Given the description of an element on the screen output the (x, y) to click on. 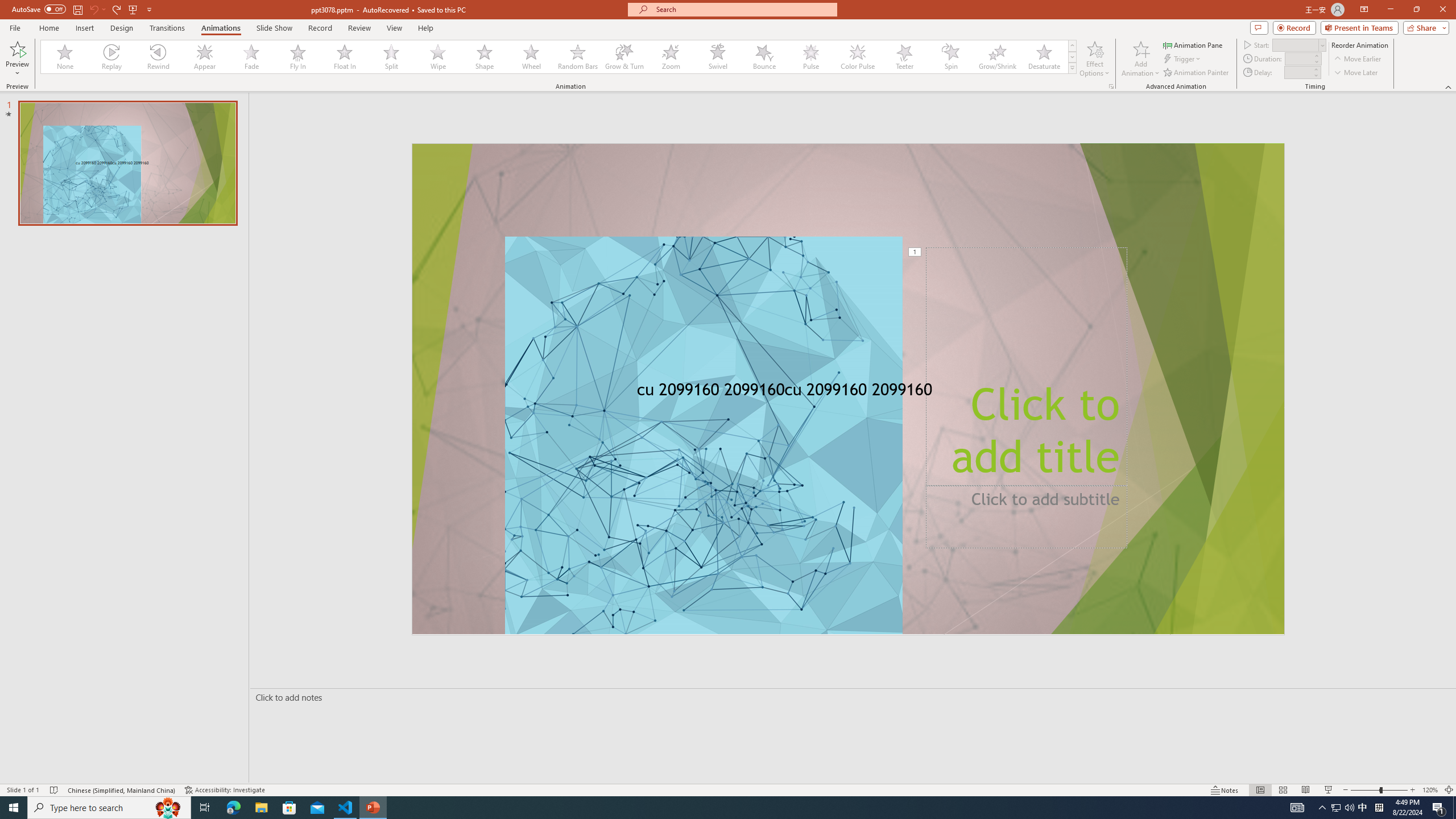
Grow/Shrink (997, 56)
Class: MsoCommandBar (728, 789)
Spell Check No Errors (54, 790)
Start (1299, 44)
Microsoft search (742, 9)
Color Pulse (857, 56)
Bounce (764, 56)
